Given the description of an element on the screen output the (x, y) to click on. 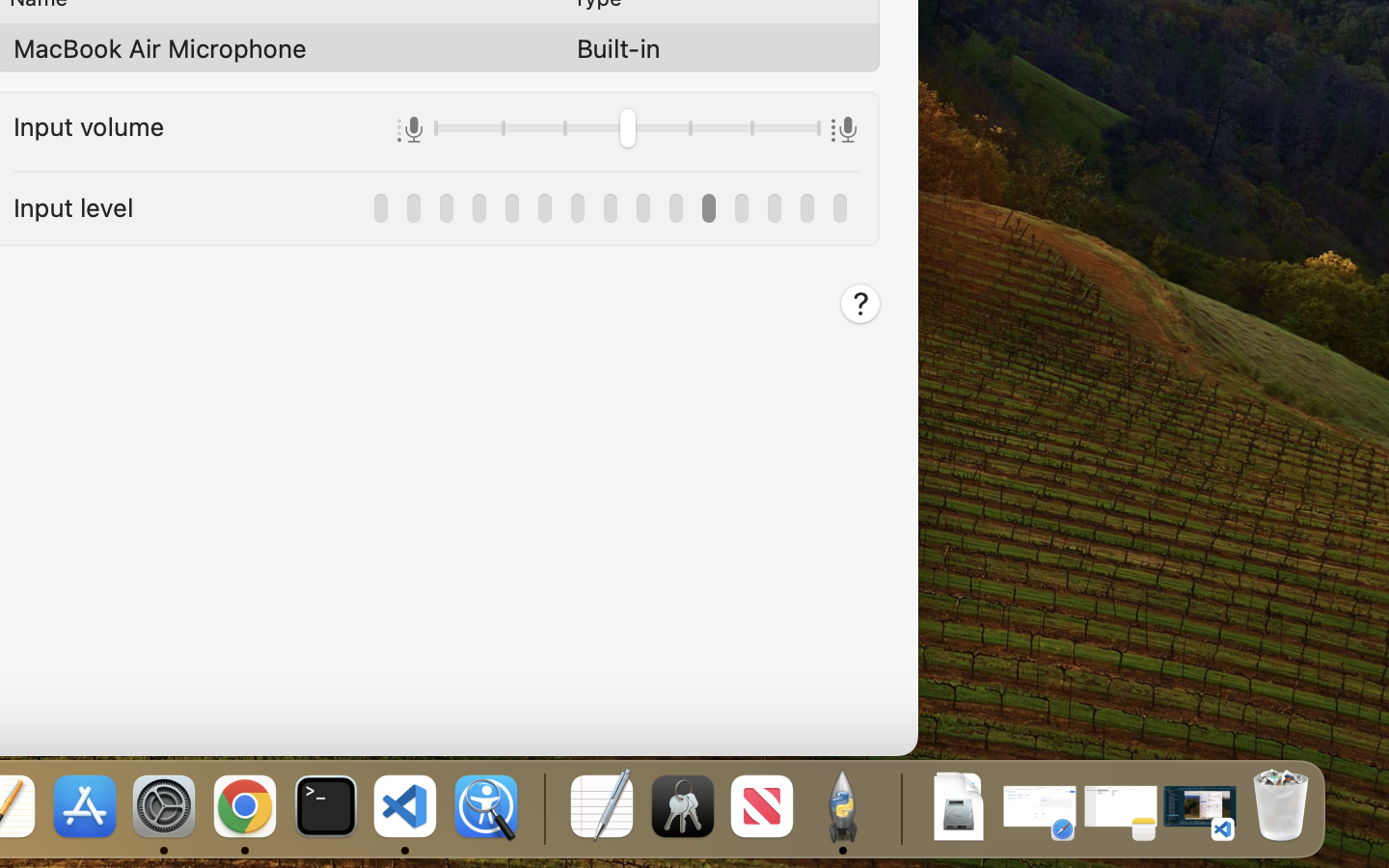
0.4285714328289032 Element type: AXDockItem (541, 807)
Input level Element type: AXStaticText (73, 205)
Input volume Element type: AXStaticText (88, 124)
MacBook Air Microphone Element type: AXStaticText (159, 47)
0.5 Element type: AXSlider (626, 131)
